Given the description of an element on the screen output the (x, y) to click on. 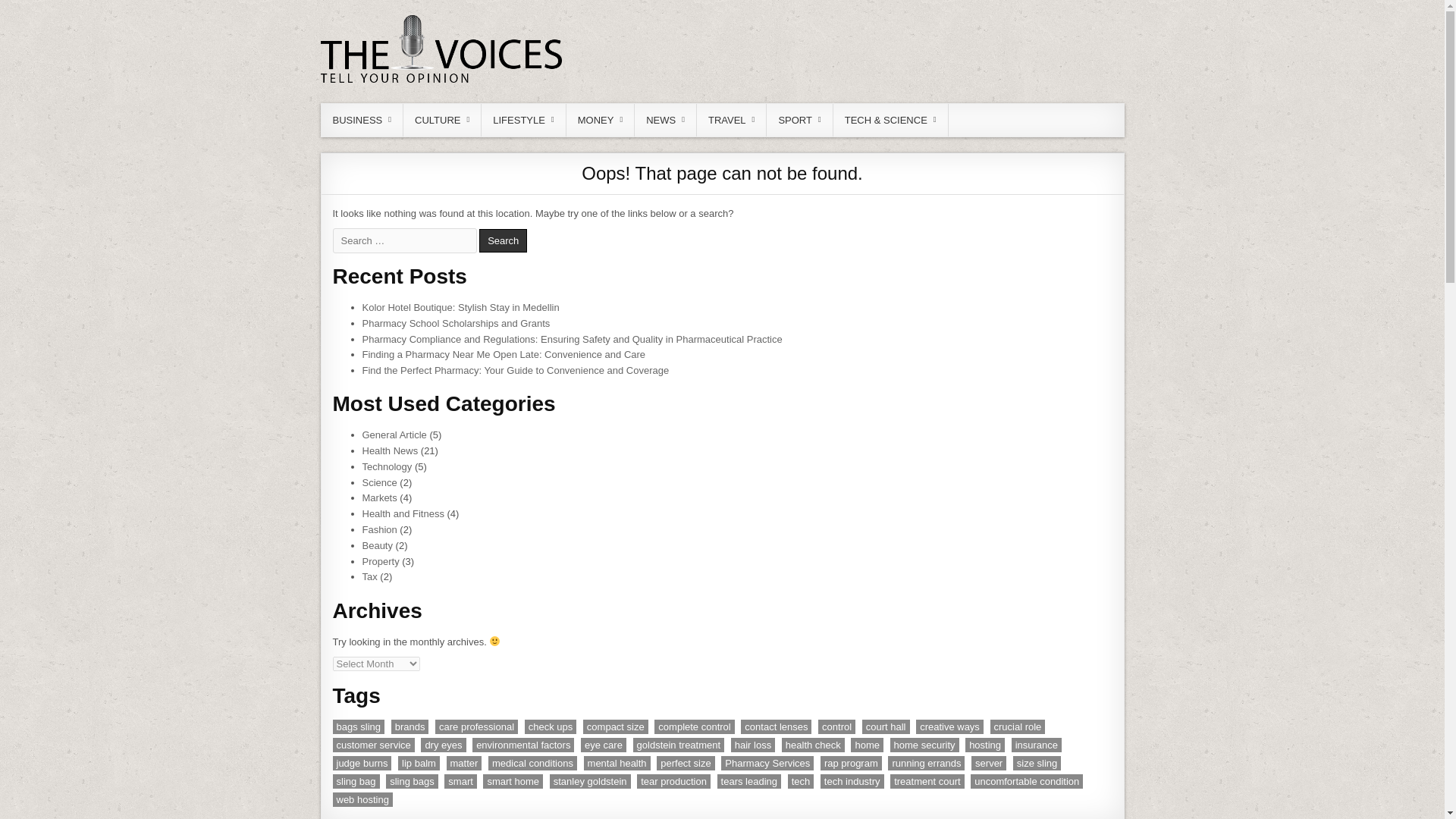
MONEY (600, 120)
NEWS (665, 120)
BUSINESS (362, 120)
LIFESTYLE (523, 120)
Search (503, 240)
Search (503, 240)
CULTURE (442, 120)
